Given the description of an element on the screen output the (x, y) to click on. 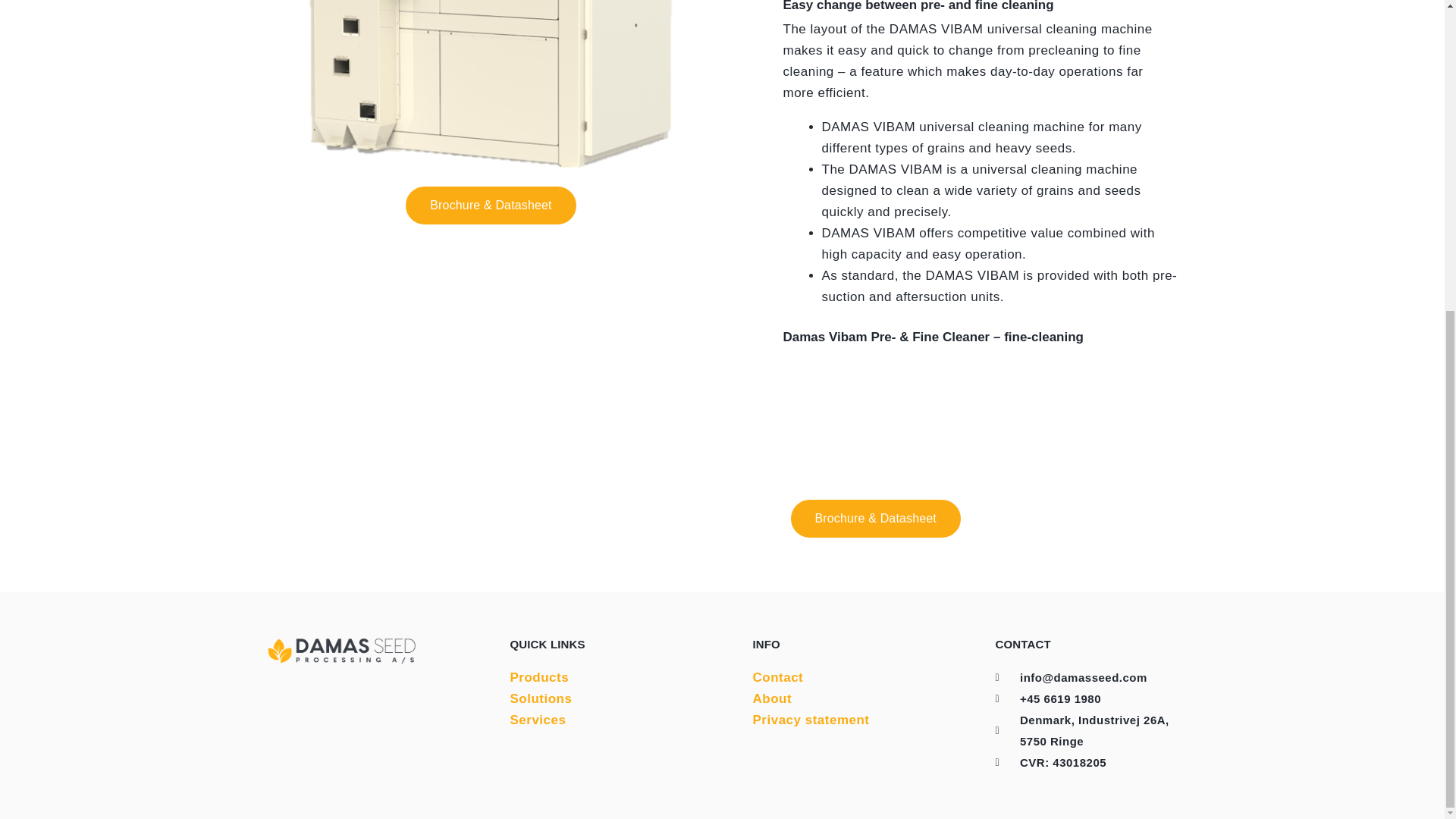
About (772, 698)
Solutions (540, 698)
Easy change between pre- and fine cleaning (979, 9)
Privacy statement (810, 719)
Services (857, 705)
Contact (537, 719)
INFO (777, 677)
QUICK LINKS (857, 644)
Products (615, 644)
CONTACT (539, 677)
